Given the description of an element on the screen output the (x, y) to click on. 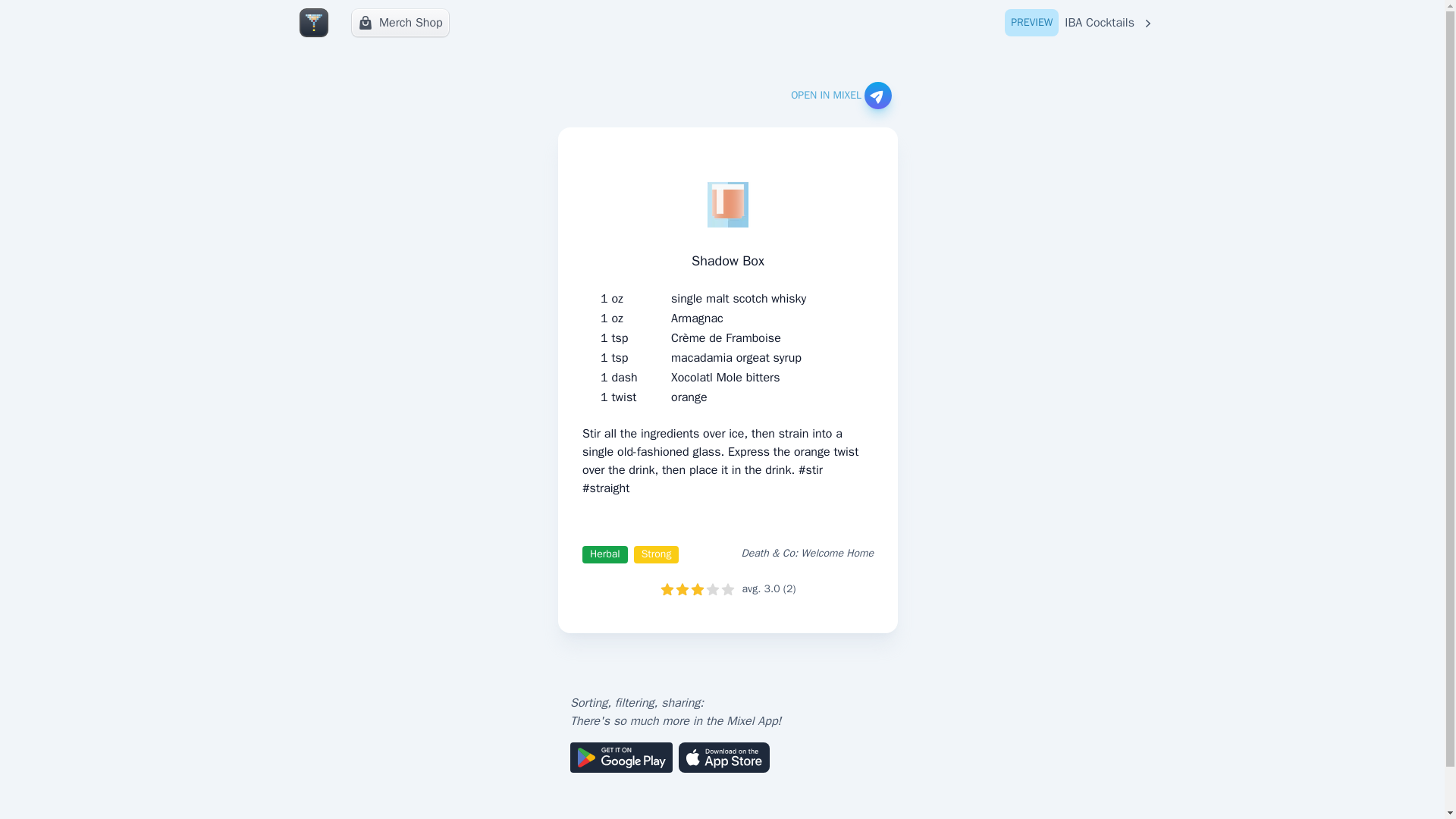
single malt scotch whisky (738, 298)
Xocolatl Mole bitters (724, 377)
OPEN IN MIXEL (840, 94)
Merch Shop (400, 22)
macadamia orgeat syrup (736, 357)
orange (689, 397)
Armagnac (697, 318)
